Given the description of an element on the screen output the (x, y) to click on. 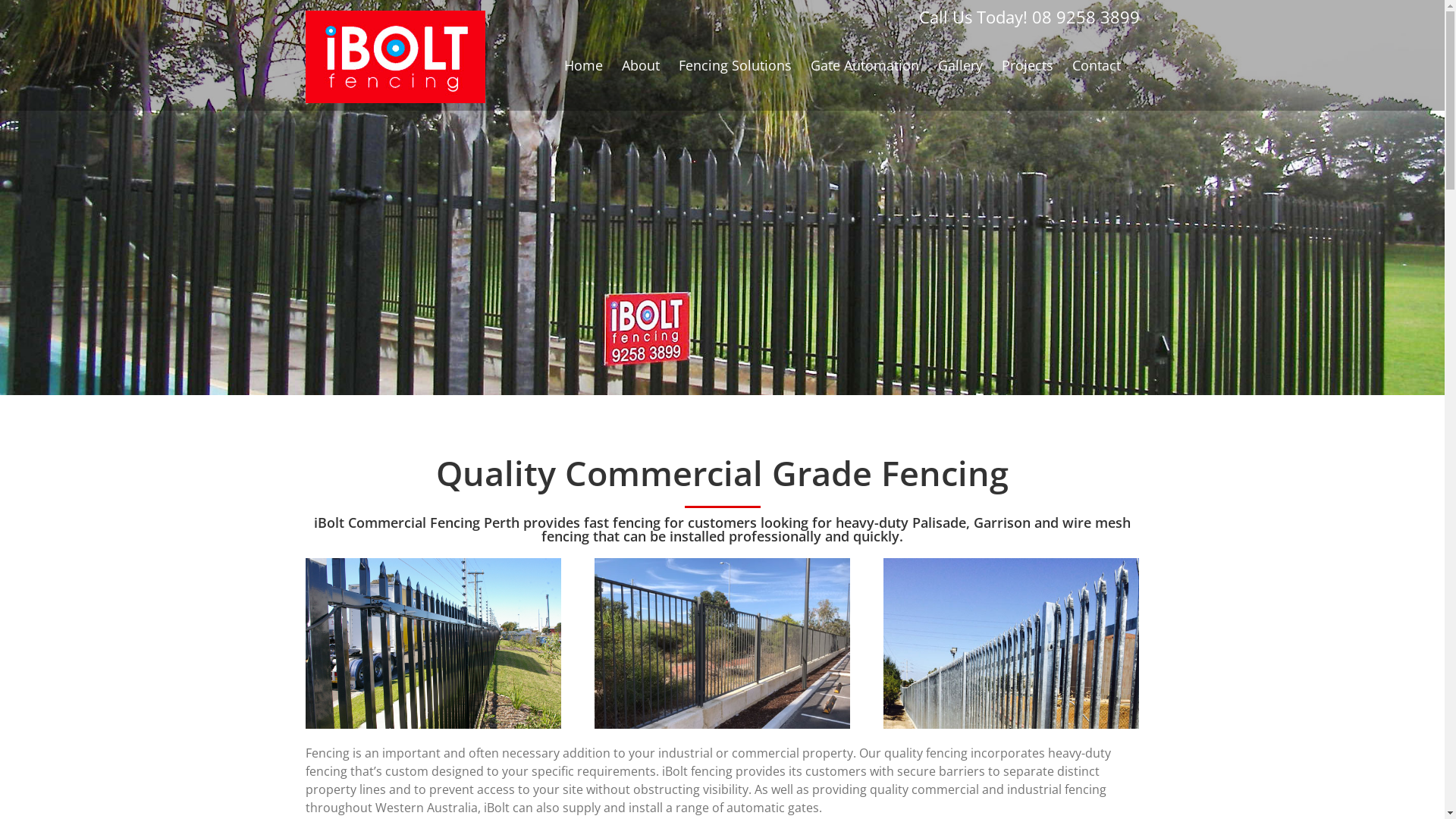
Home Element type: text (583, 65)
Projects Element type: text (1026, 65)
Contact Element type: text (1096, 65)
tubular-fencing Element type: hover (722, 643)
security-fencing Element type: hover (1011, 643)
About Element type: text (640, 65)
Gallery Element type: text (959, 65)
08 9258 3899 Element type: text (1085, 16)
Gate Automation Element type: text (863, 65)
1 Element type: hover (432, 643)
Fencing Solutions Element type: text (733, 65)
